Given the description of an element on the screen output the (x, y) to click on. 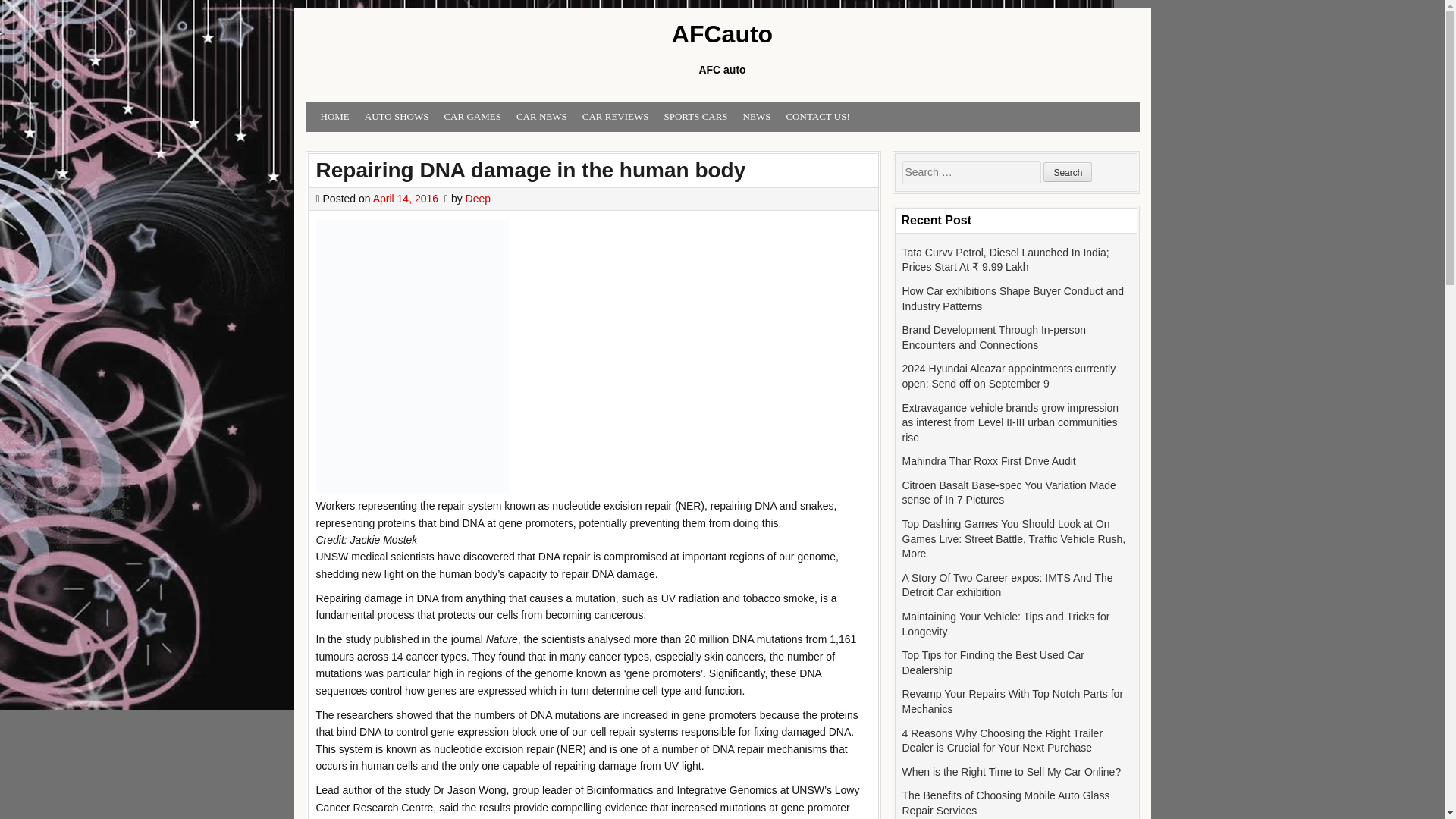
Search (1067, 171)
Deep (477, 198)
Search (1067, 171)
NEWS (756, 116)
HOME (334, 116)
CONTACT US! (817, 116)
AFCauto (721, 34)
CAR GAMES (471, 116)
SPORTS CARS (695, 116)
